Given the description of an element on the screen output the (x, y) to click on. 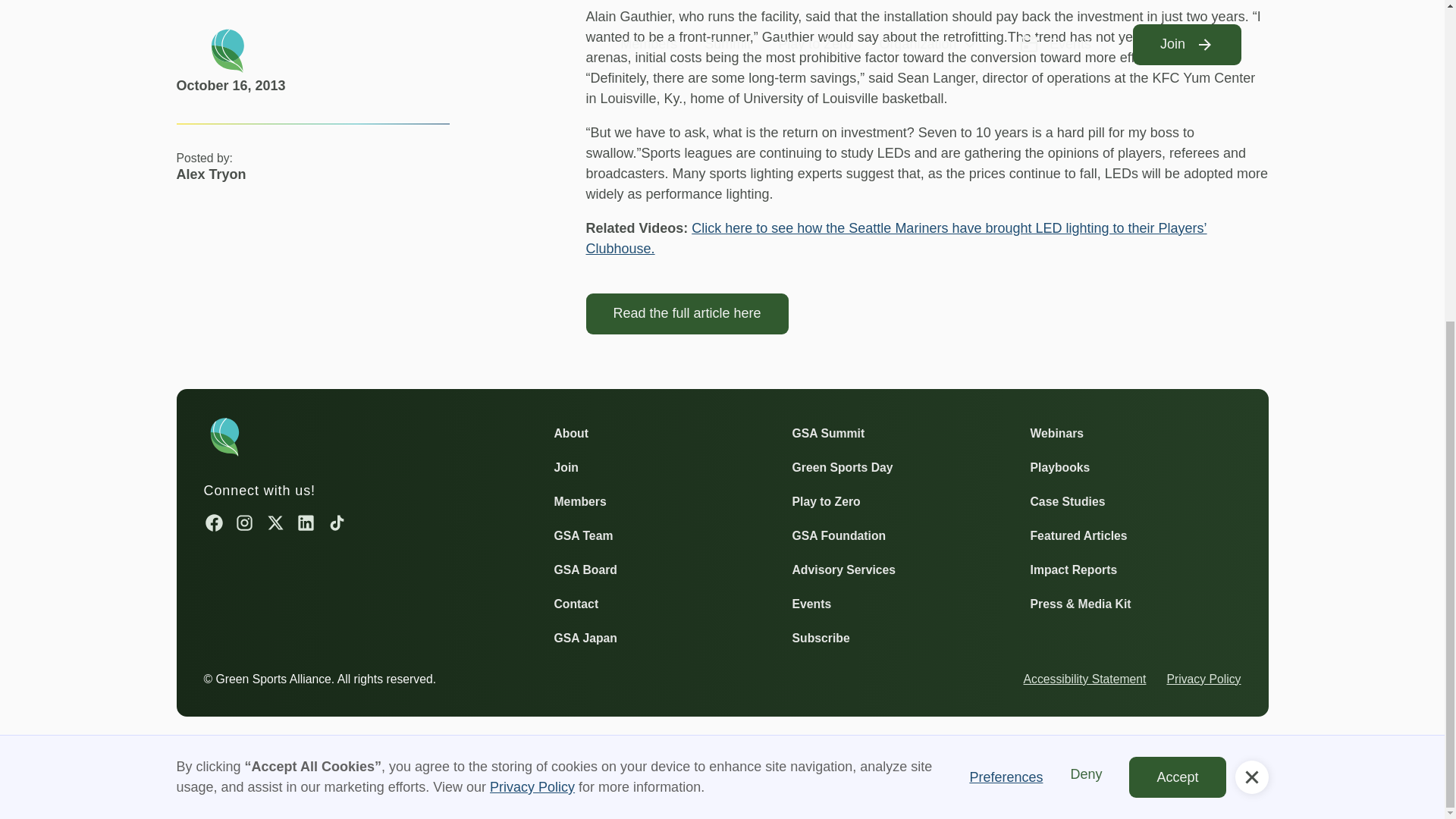
GSA Team (582, 535)
Read the full article here (686, 313)
Members (579, 500)
Join (565, 467)
About (570, 432)
